Given the description of an element on the screen output the (x, y) to click on. 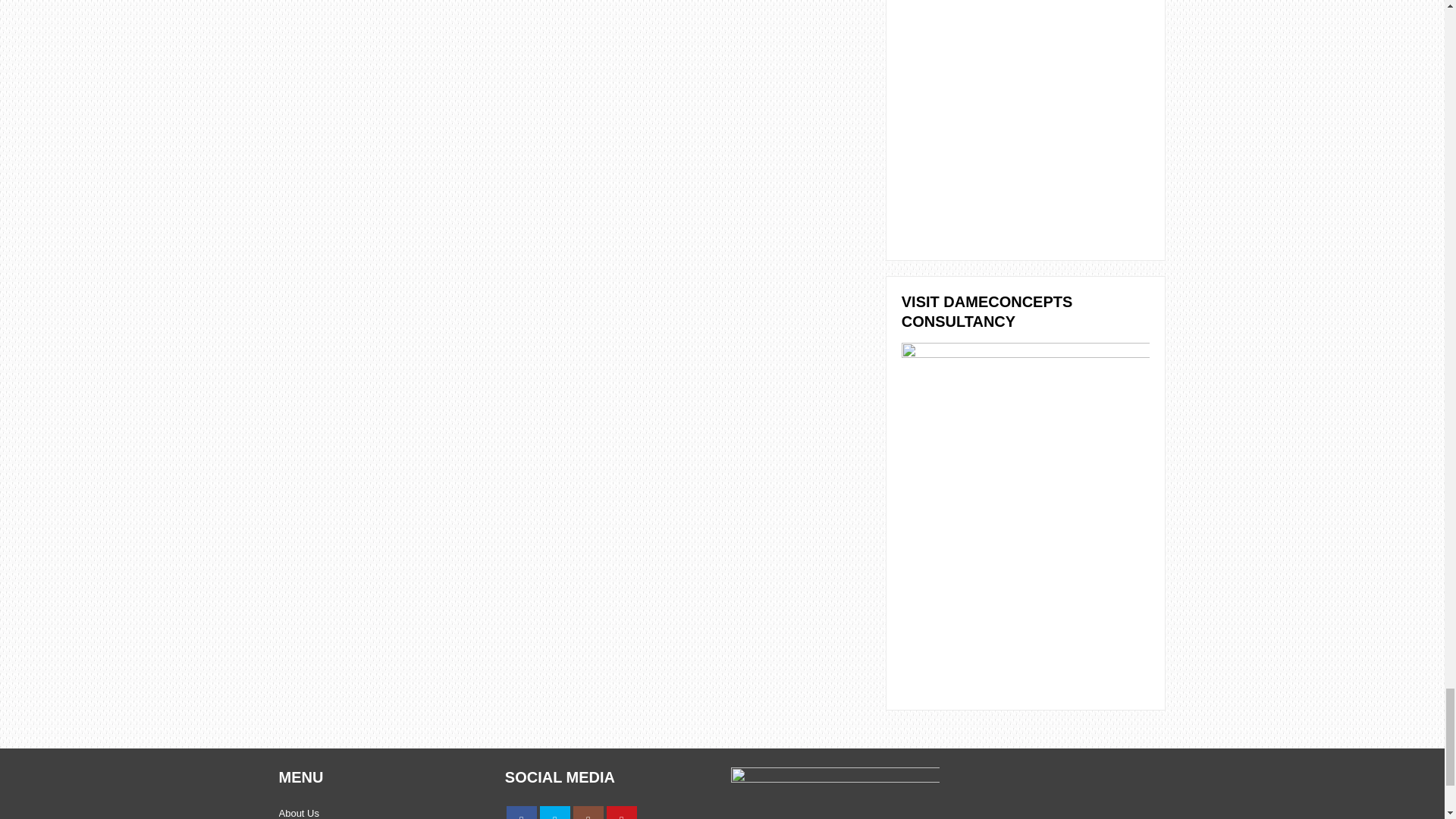
About Us (298, 813)
